Given the description of an element on the screen output the (x, y) to click on. 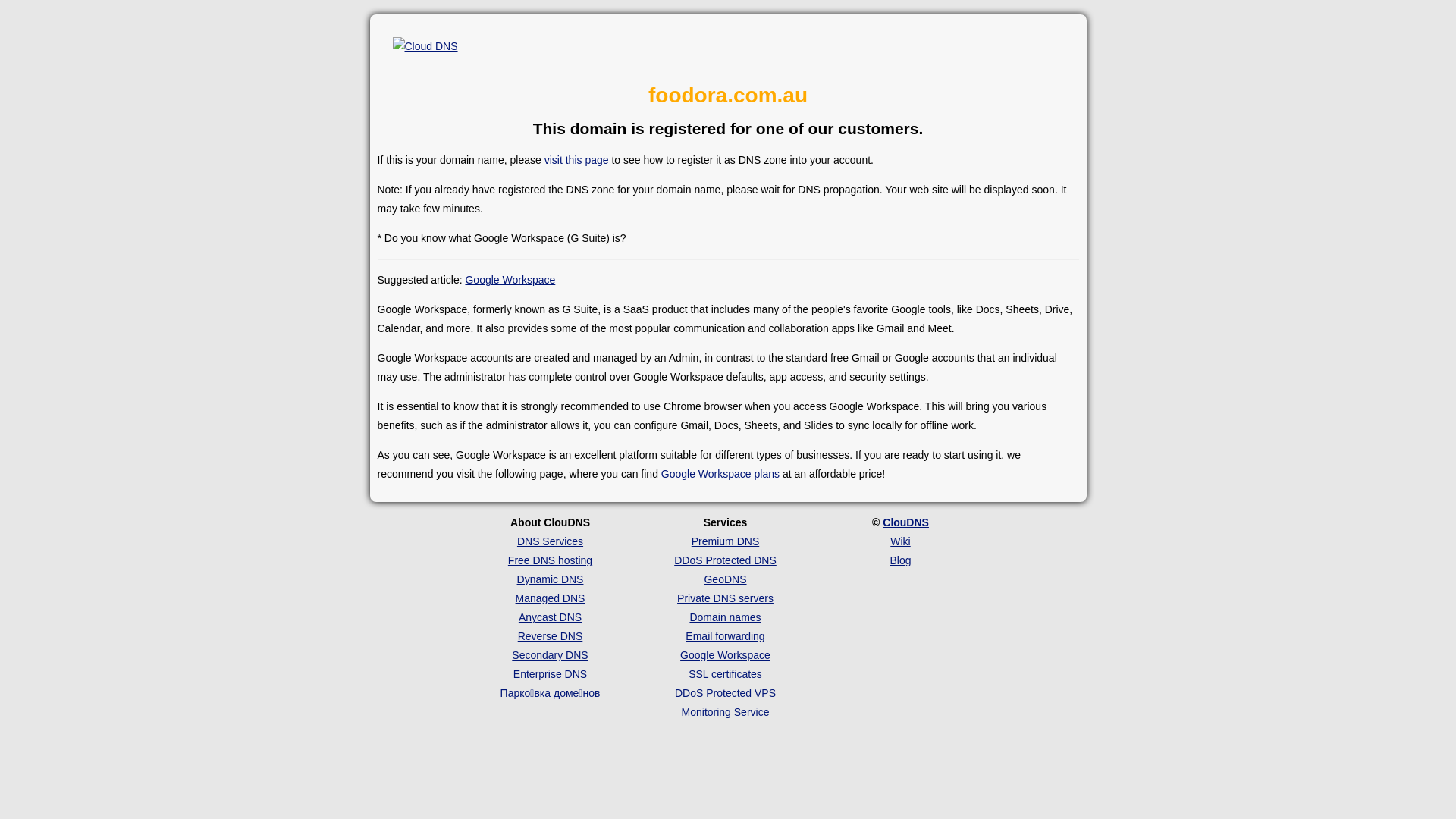
Domain names Element type: text (724, 617)
Monitoring Service Element type: text (725, 712)
Google Workspace Element type: text (725, 655)
Secondary DNS Element type: text (549, 655)
Google Workspace plans Element type: text (720, 473)
visit this page Element type: text (576, 159)
DDoS Protected DNS Element type: text (725, 560)
Premium DNS Element type: text (725, 541)
ClouDNS Element type: text (905, 522)
Anycast DNS Element type: text (549, 617)
SSL certificates Element type: text (725, 674)
Email forwarding Element type: text (724, 636)
Google Workspace Element type: text (509, 279)
Managed DNS Element type: text (550, 598)
Cloud DNS Element type: hover (425, 46)
Dynamic DNS Element type: text (550, 579)
Blog Element type: text (899, 560)
Reverse DNS Element type: text (550, 636)
DDoS Protected VPS Element type: text (724, 693)
Enterprise DNS Element type: text (549, 674)
DNS Services Element type: text (550, 541)
Private DNS servers Element type: text (725, 598)
Wiki Element type: text (900, 541)
GeoDNS Element type: text (724, 579)
Free DNS hosting Element type: text (550, 560)
